Given the description of an element on the screen output the (x, y) to click on. 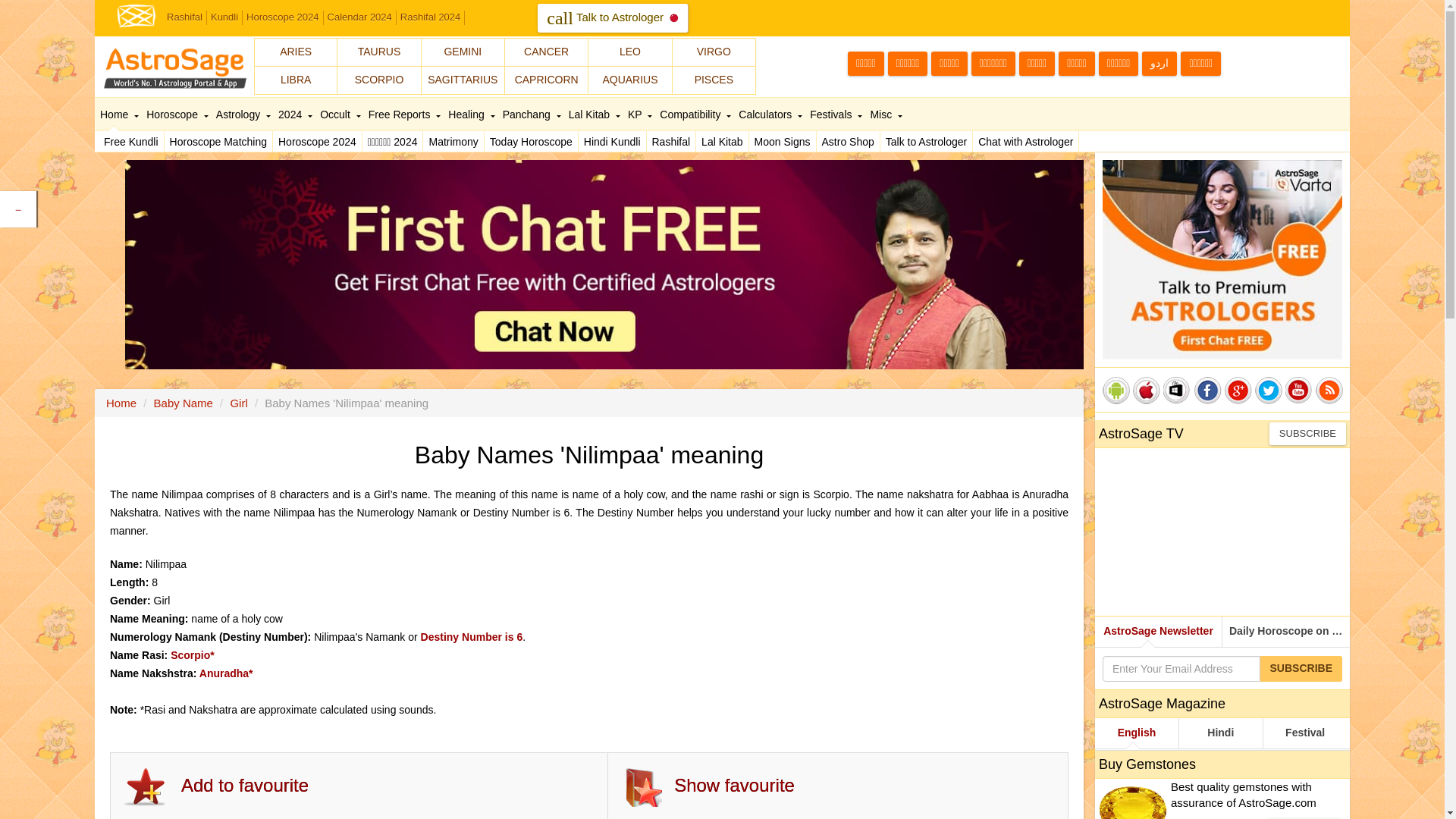
Add to favourite (244, 785)
ARIES (295, 52)
Lal Kitab (721, 141)
CANCER (546, 52)
Rashifal (670, 141)
SAGITTARIUS (462, 80)
Hindi Kundli (612, 141)
Matrimony (453, 141)
Tamil (865, 63)
Free Kundli (131, 141)
